Given the description of an element on the screen output the (x, y) to click on. 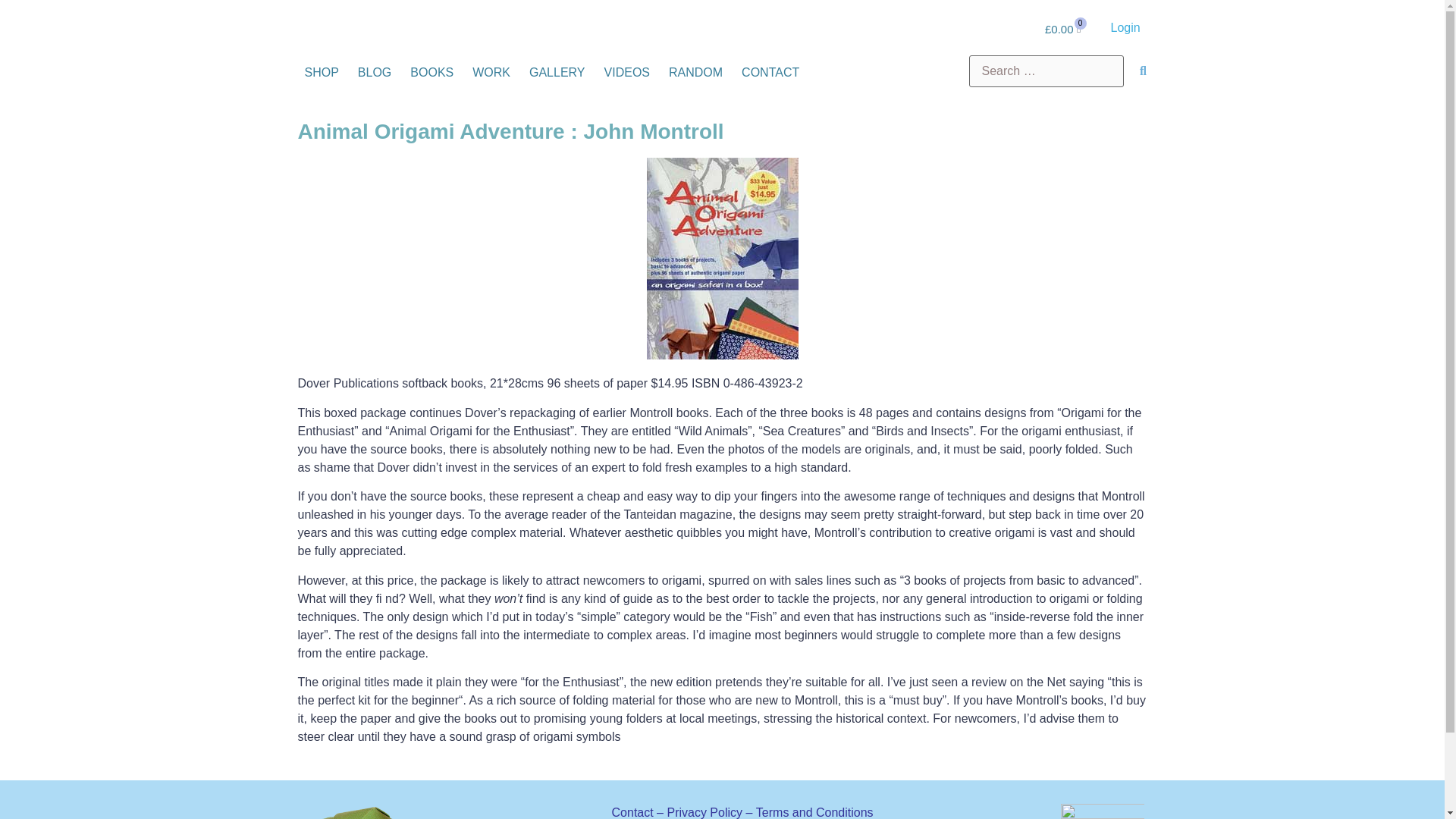
GALLERY (557, 72)
CONTACT (770, 72)
BOOKS (431, 72)
WORK (490, 72)
Login (1124, 27)
RANDOM (695, 72)
VIDEOS (626, 72)
BLOG (373, 72)
SHOP (321, 72)
